Given the description of an element on the screen output the (x, y) to click on. 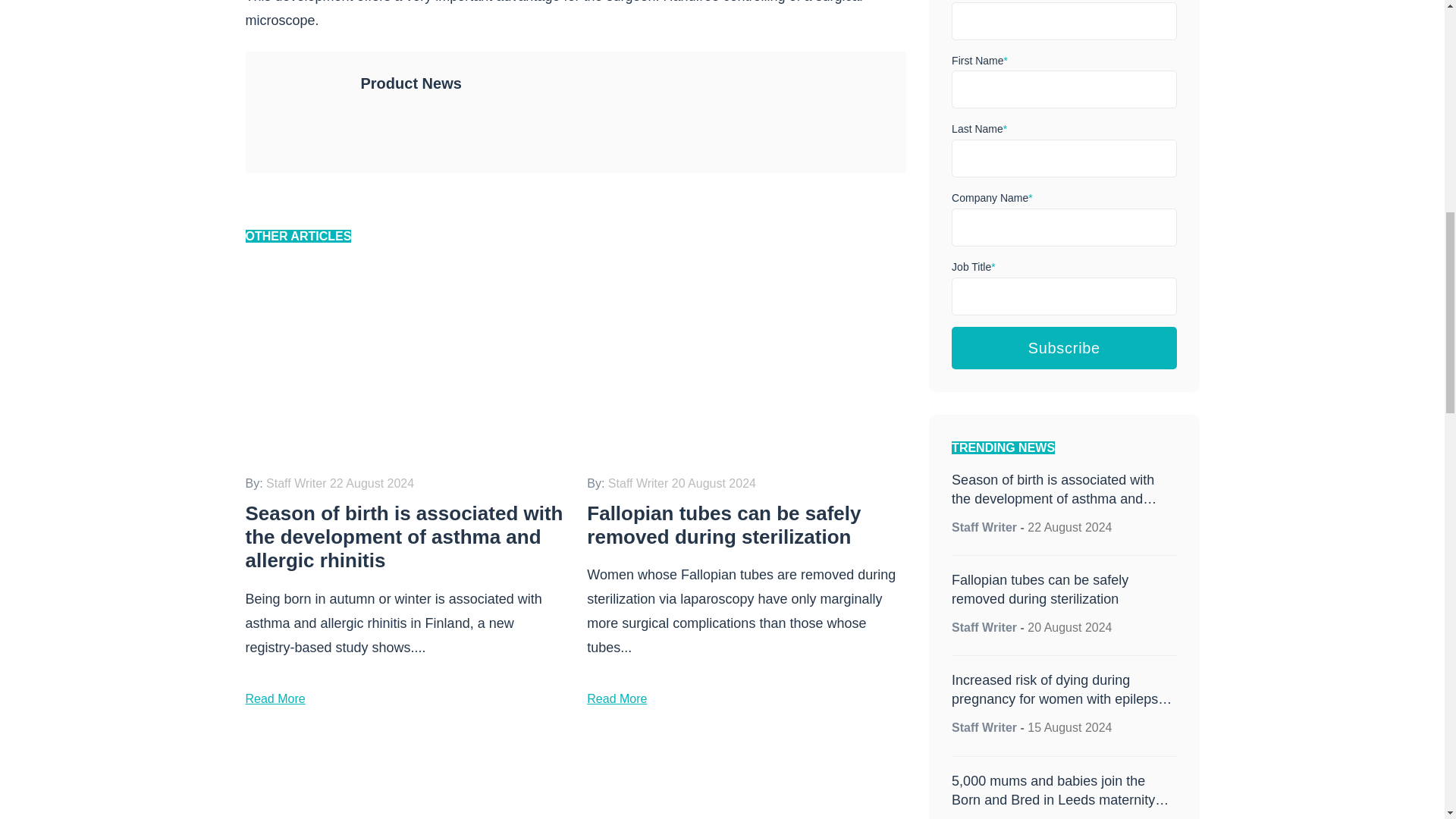
Posts by Product News (411, 83)
Posts by Staff Writer (984, 526)
Subscribe (1064, 347)
Posts by Staff Writer (984, 727)
Posts by Staff Writer (984, 626)
